Given the description of an element on the screen output the (x, y) to click on. 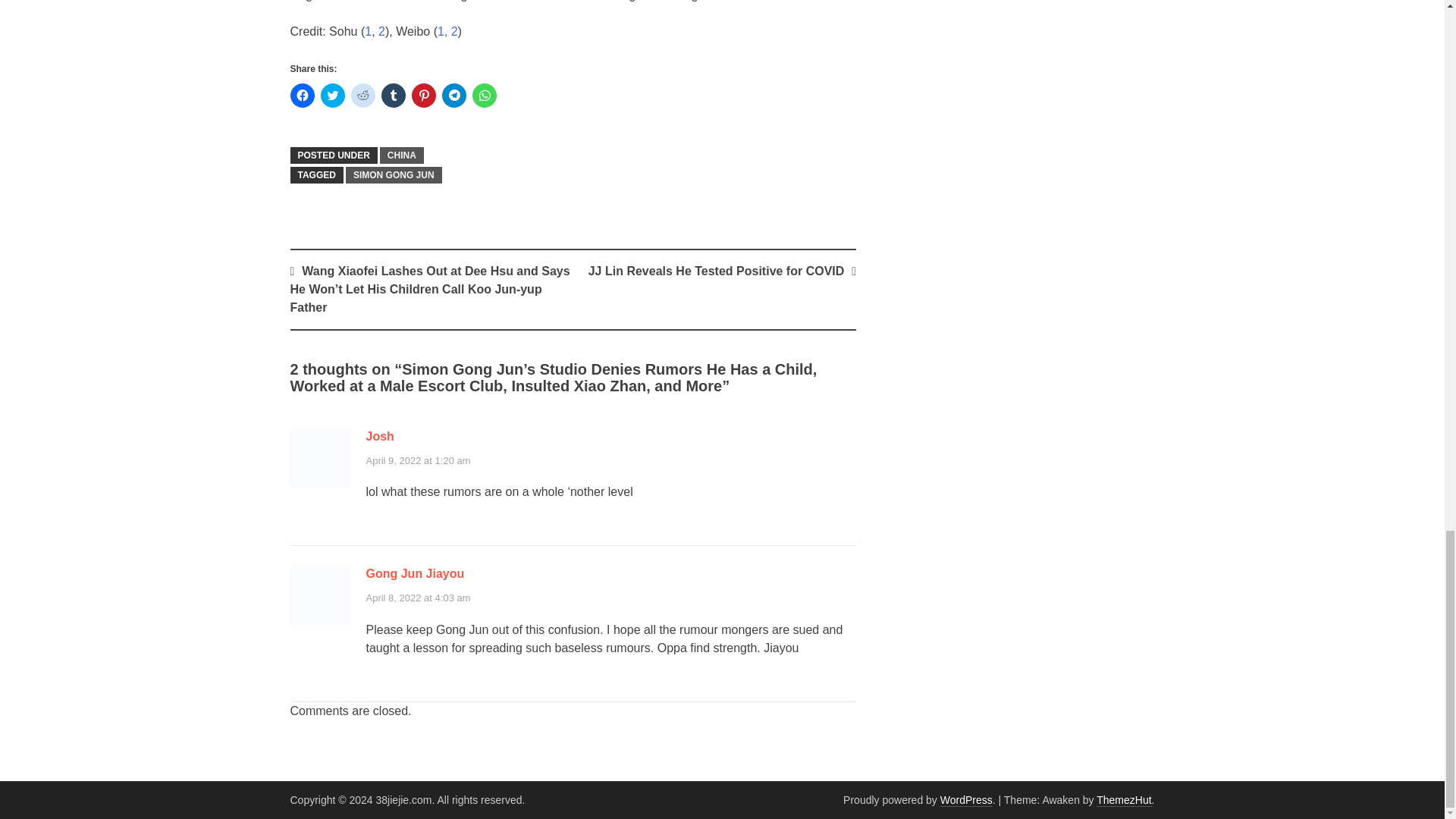
CHINA (401, 155)
2 (381, 31)
2 (454, 31)
1 (368, 31)
Click to share on Tumblr (392, 95)
1, (442, 31)
Click to share on Pinterest (422, 95)
Click to share on Reddit (362, 95)
Click to share on Twitter (331, 95)
Click to share on Telegram (453, 95)
Click to share on WhatsApp (483, 95)
WordPress (966, 799)
Click to share on Facebook (301, 95)
